Given the description of an element on the screen output the (x, y) to click on. 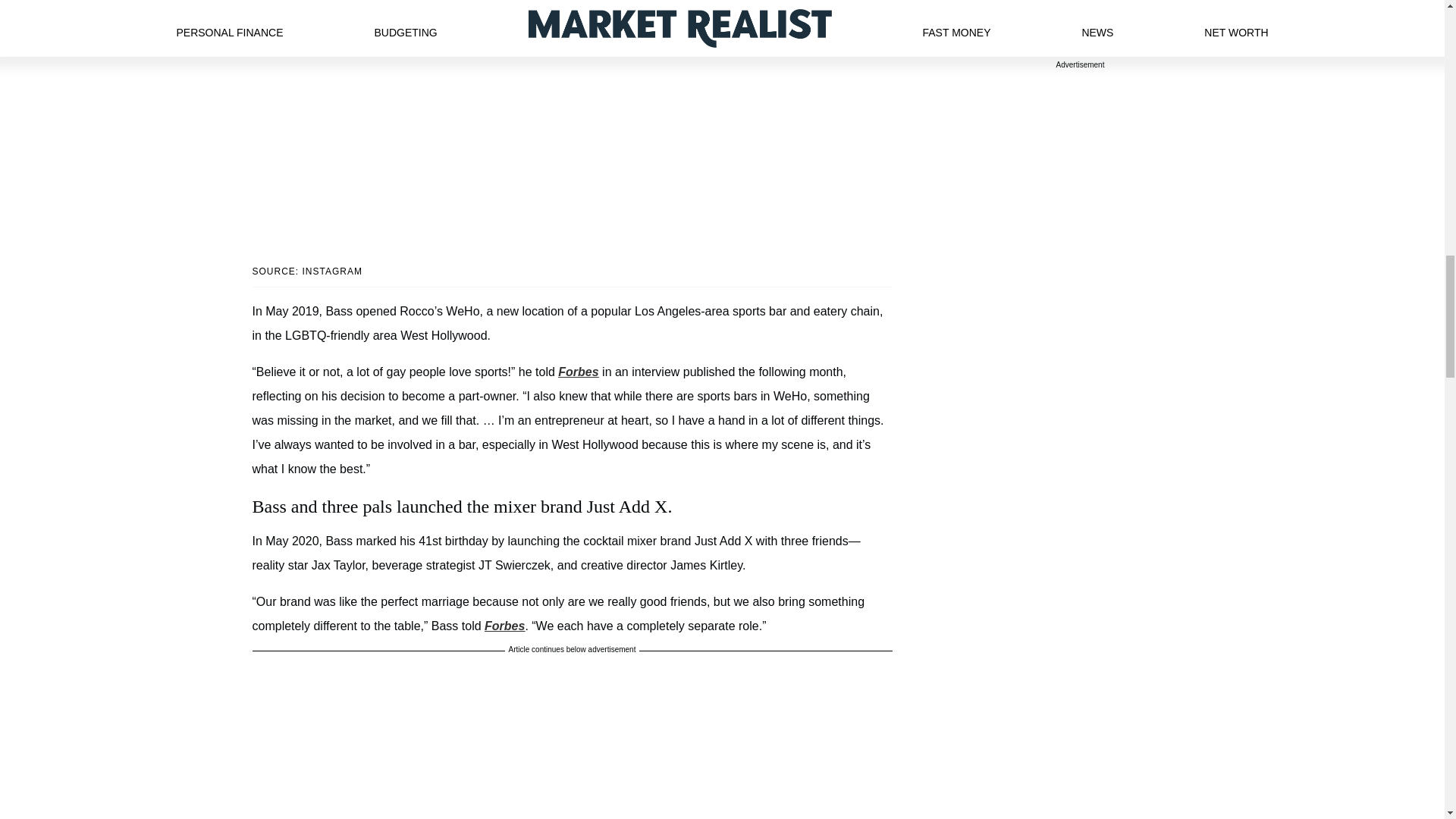
Forbes (504, 625)
Forbes (577, 371)
SOURCE: INSTAGRAM (571, 271)
